Given the description of an element on the screen output the (x, y) to click on. 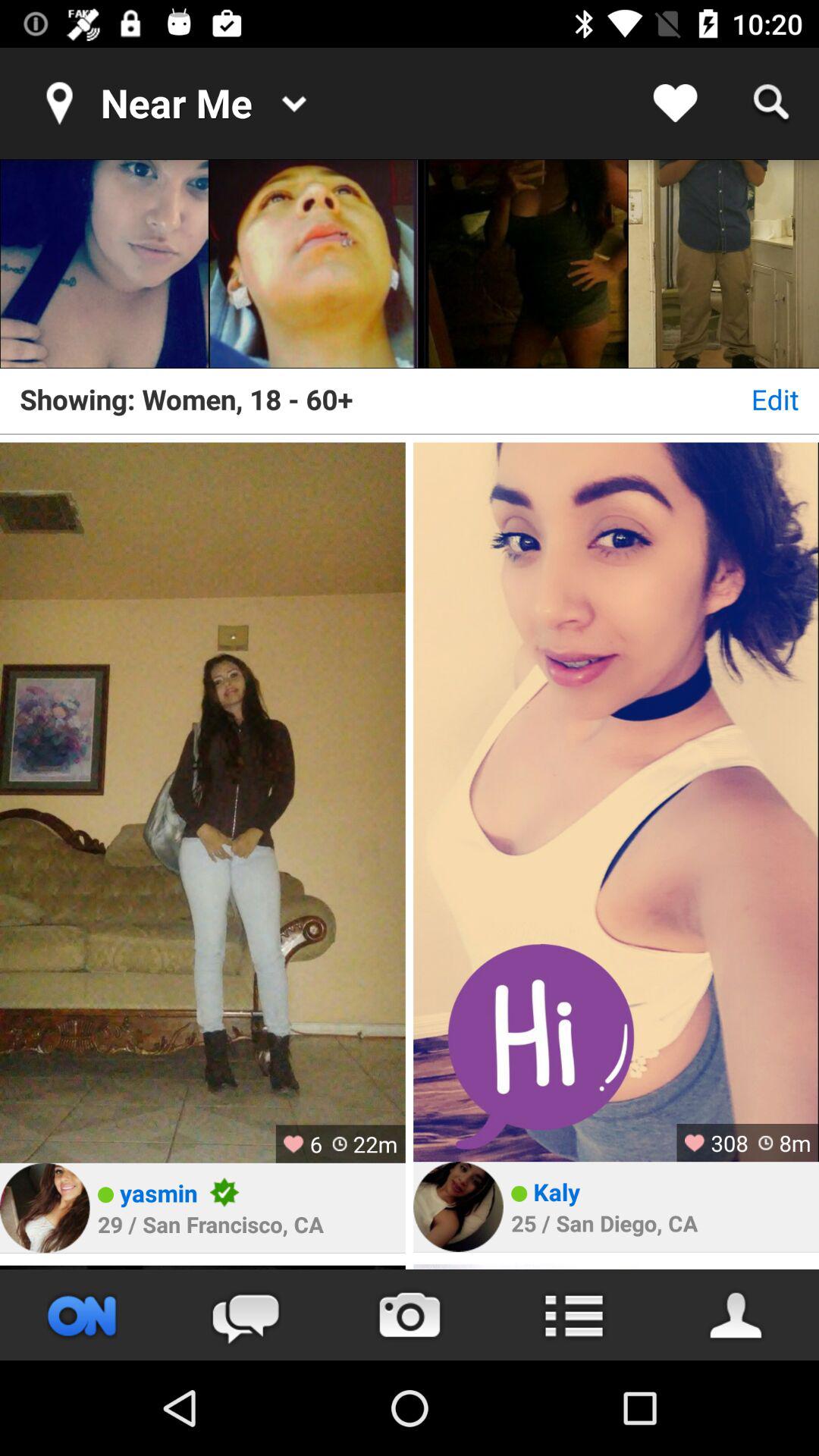
press item above the showing women 18 (313, 263)
